Given the description of an element on the screen output the (x, y) to click on. 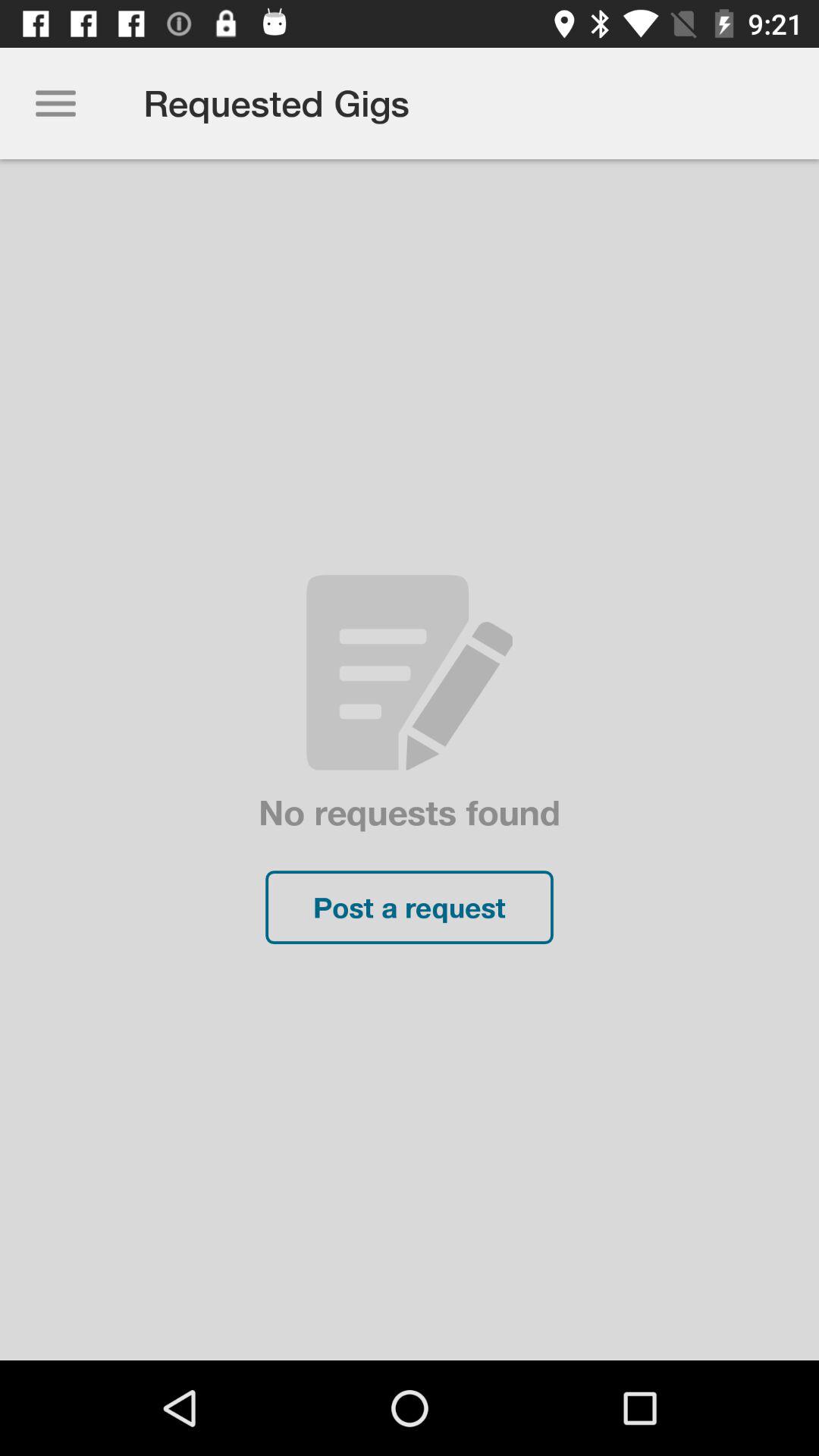
turn on the post a request item (409, 907)
